Given the description of an element on the screen output the (x, y) to click on. 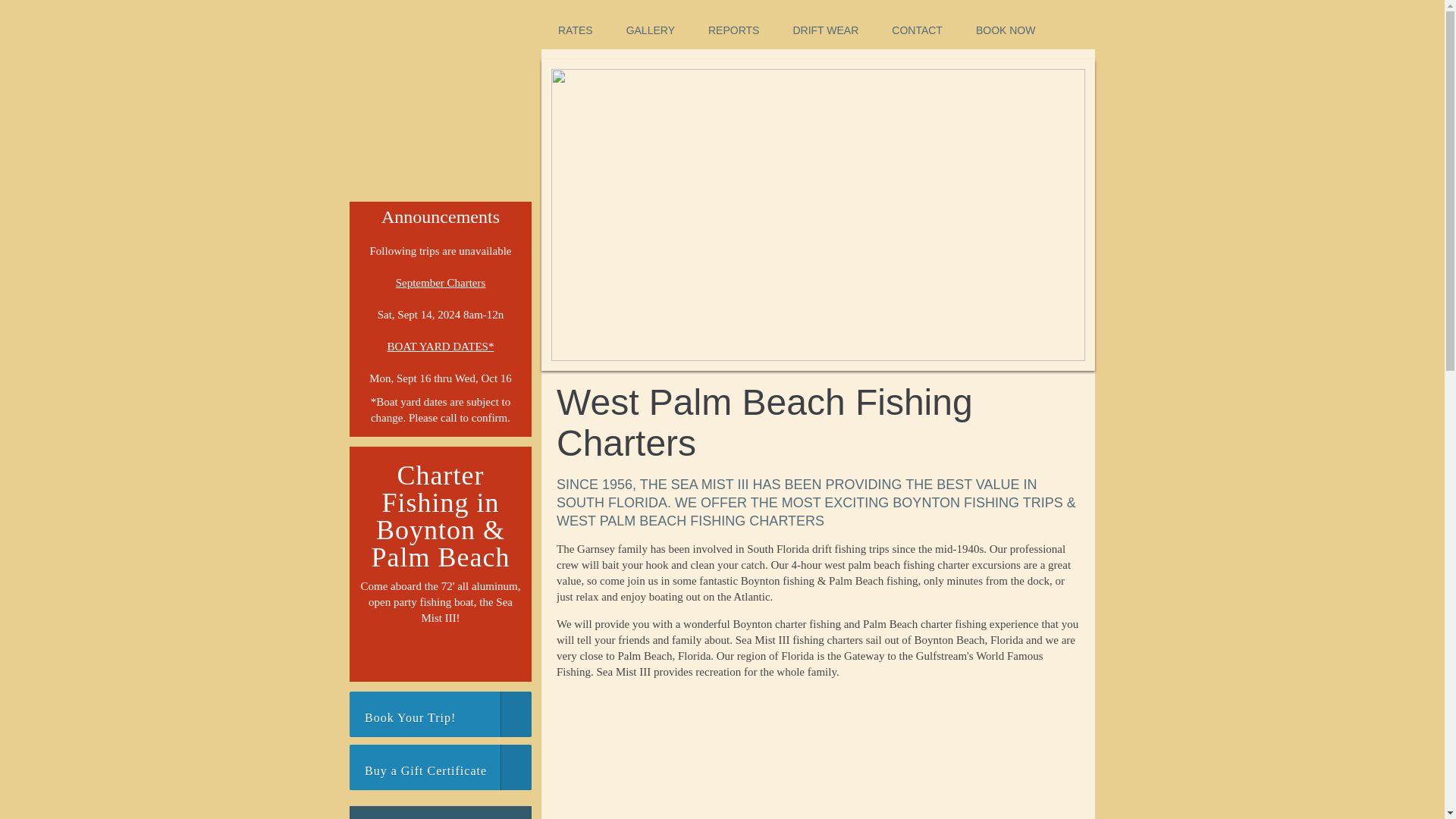
GALLERY (650, 30)
CONTACT (917, 30)
BOOK NOW (1005, 30)
REPORTS (733, 30)
RATES (575, 30)
DRIFT WEAR (825, 30)
WEST PALM BEACH FISHING CHARTERS (440, 108)
YouTube video player (818, 755)
Buy a Gift Certificate (440, 767)
Book Your Trip! (440, 714)
